Given the description of an element on the screen output the (x, y) to click on. 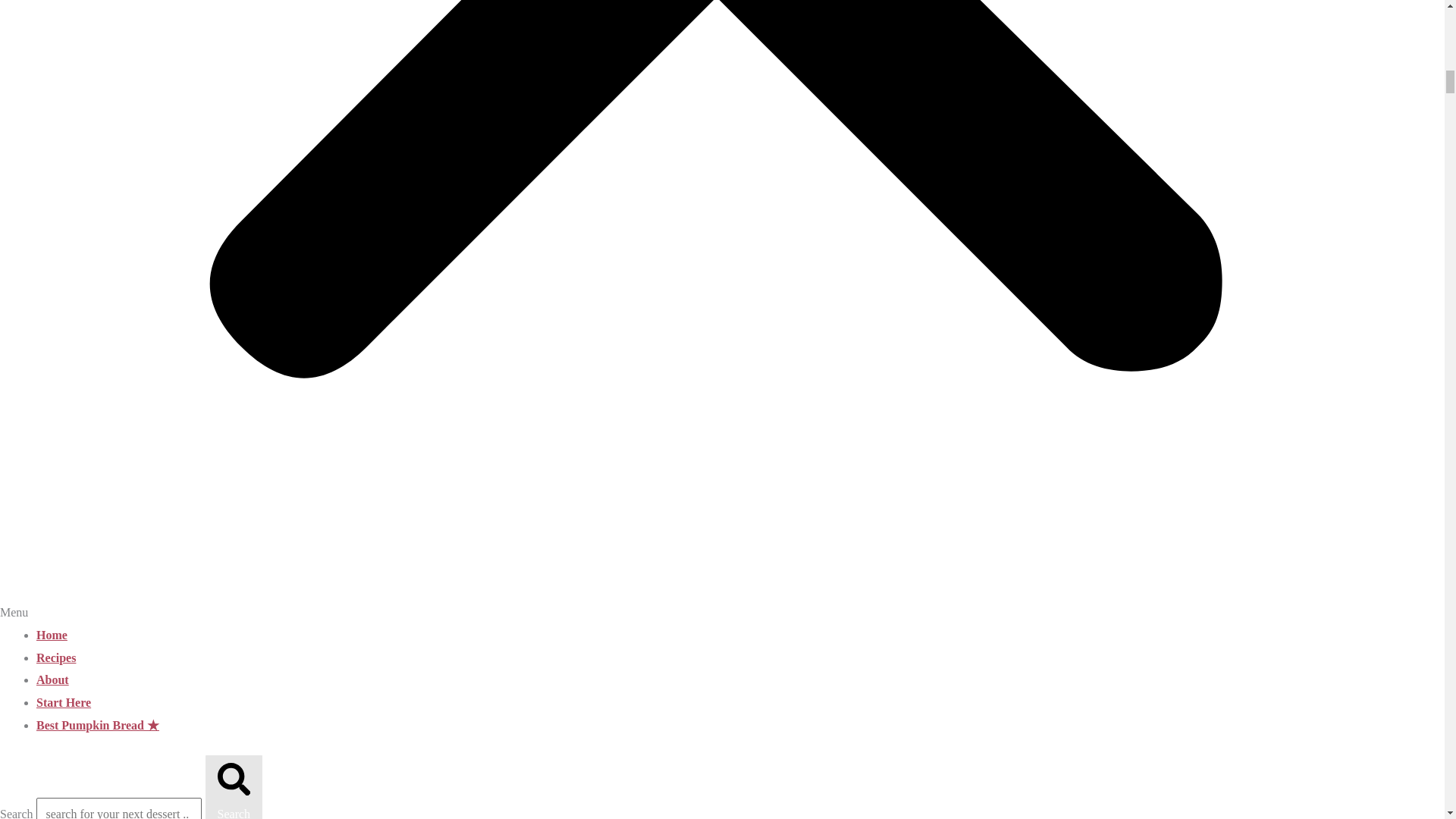
Home (51, 634)
About (52, 679)
Recipes (55, 656)
Start Here (63, 702)
Search (234, 786)
